Given the description of an element on the screen output the (x, y) to click on. 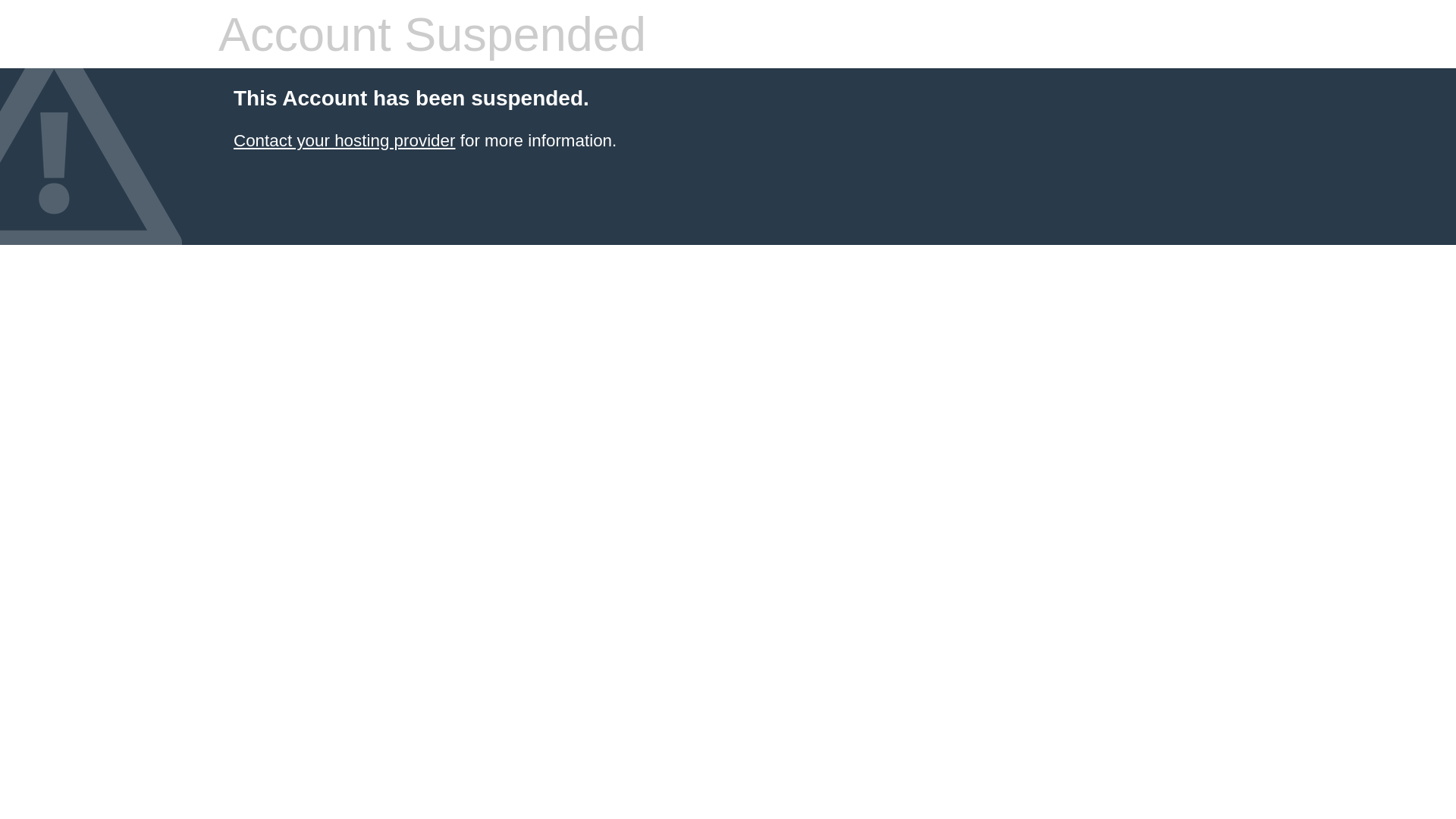
Contact your hosting provider Element type: text (344, 140)
